Given the description of an element on the screen output the (x, y) to click on. 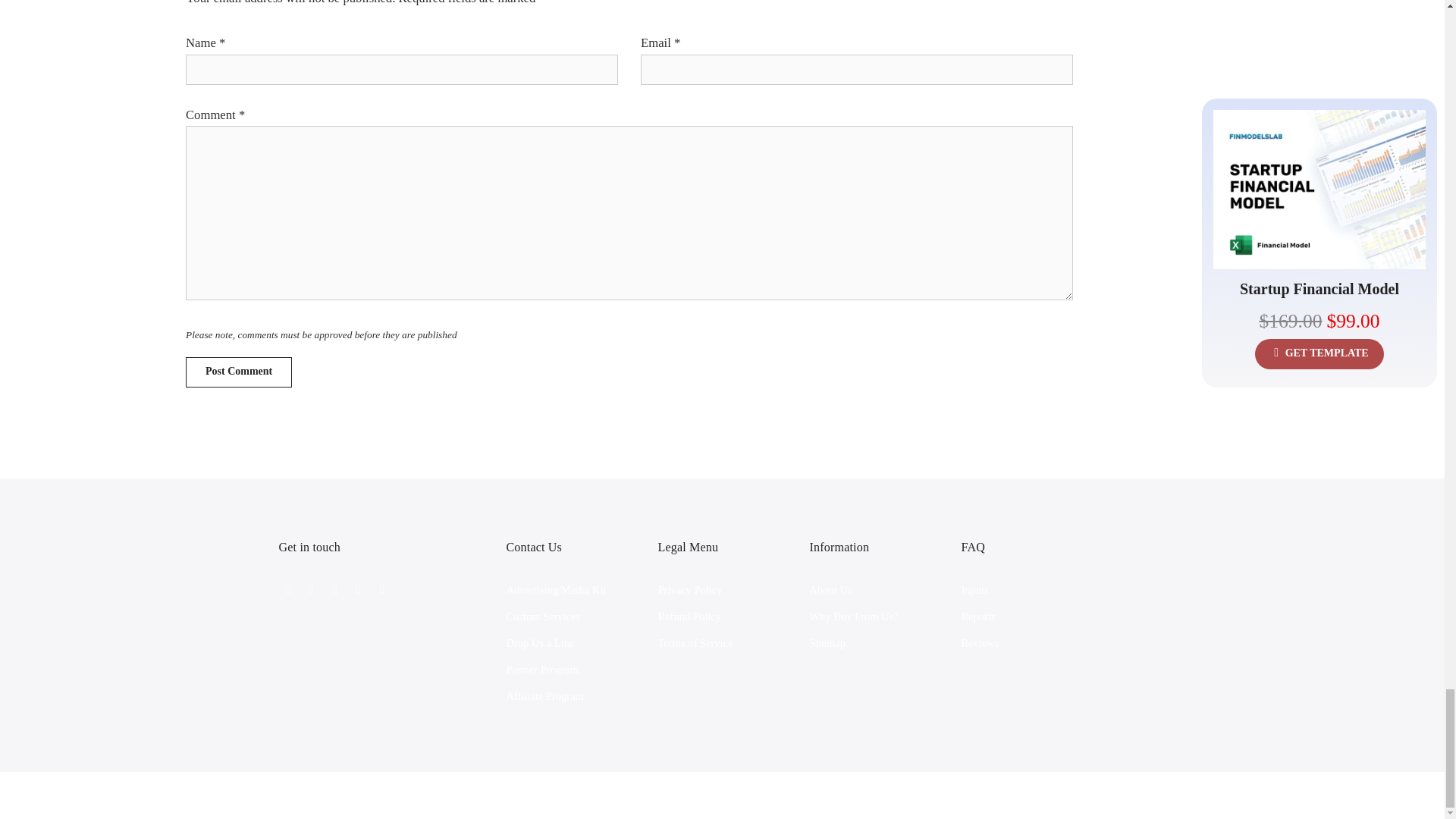
Drop Us a Line (540, 643)
Post Comment (239, 372)
Privacy Policy (690, 589)
Partner Program (542, 669)
Refund Policy (689, 616)
Custom Services (543, 616)
Terms of Service (695, 643)
Post Comment (239, 372)
Affiliate Program (544, 695)
